Given the description of an element on the screen output the (x, y) to click on. 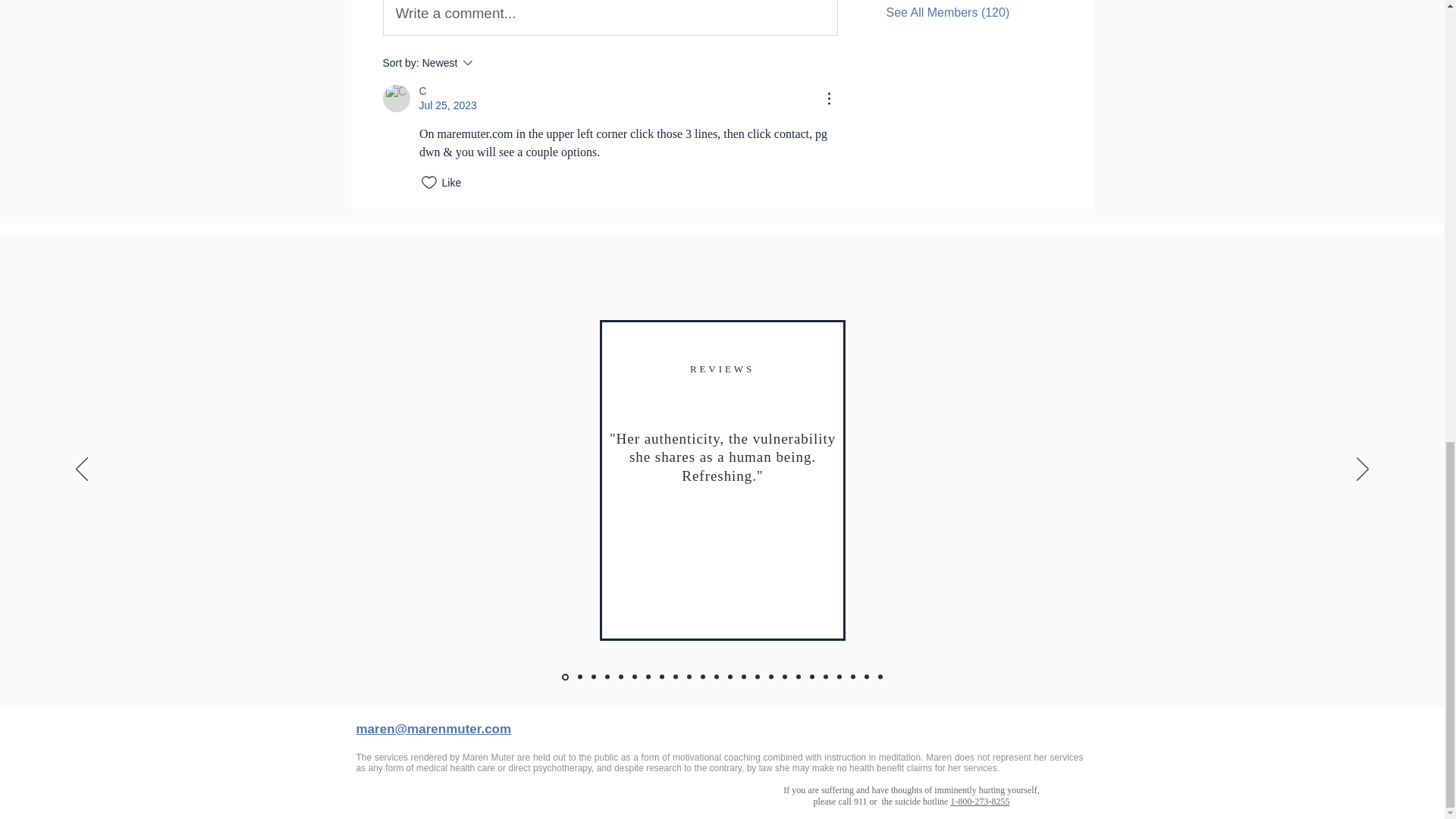
Write a comment... (610, 17)
C (395, 98)
